Given the description of an element on the screen output the (x, y) to click on. 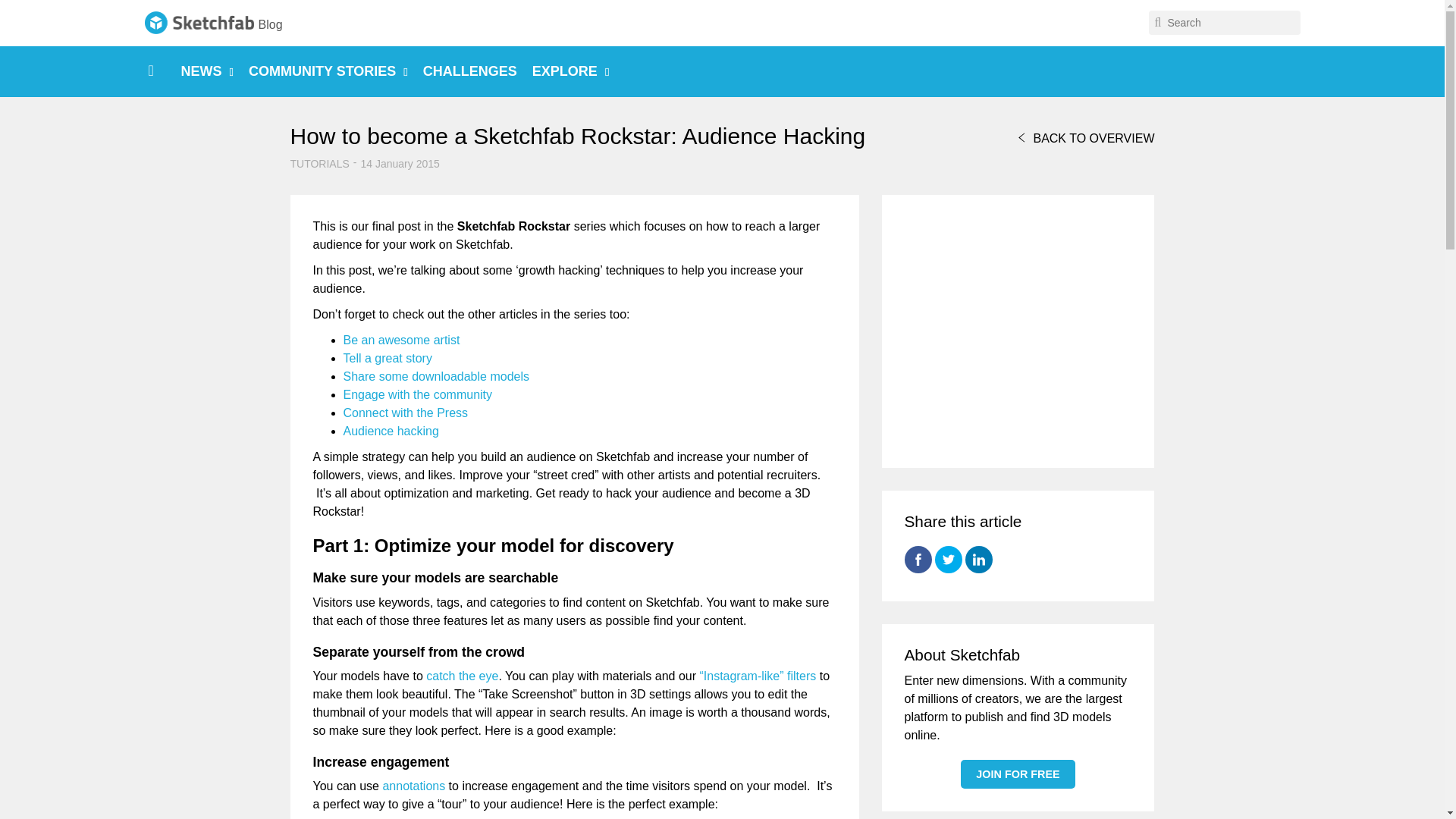
NEWS (206, 70)
Blog (269, 24)
EXPLORE (571, 70)
COMMUNITY STORIES (327, 70)
CHALLENGES (469, 70)
